Given the description of an element on the screen output the (x, y) to click on. 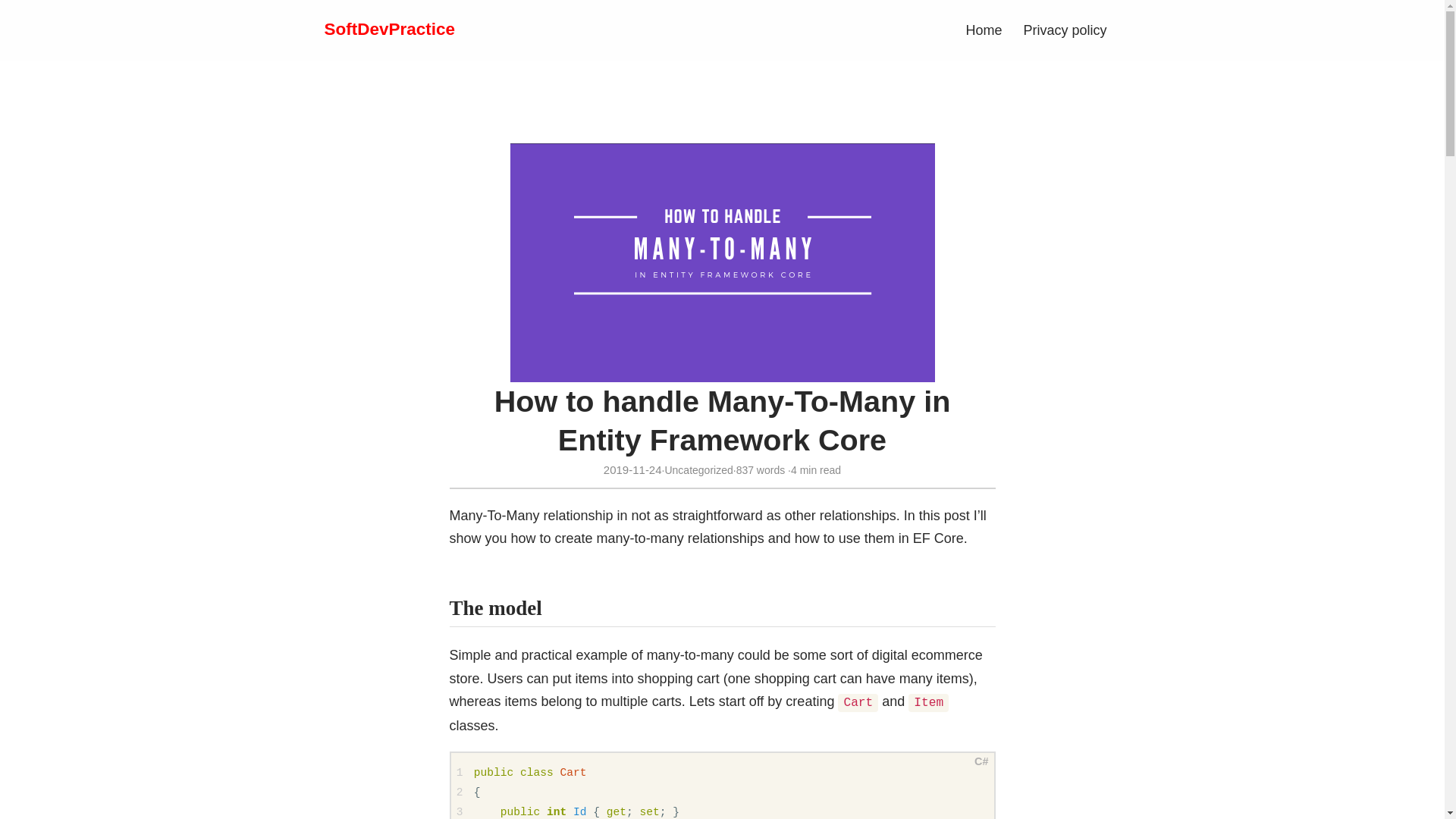
Home (983, 29)
Privacy policy (1064, 29)
Uncategorized (697, 469)
SoftDevPractice (389, 28)
